Given the description of an element on the screen output the (x, y) to click on. 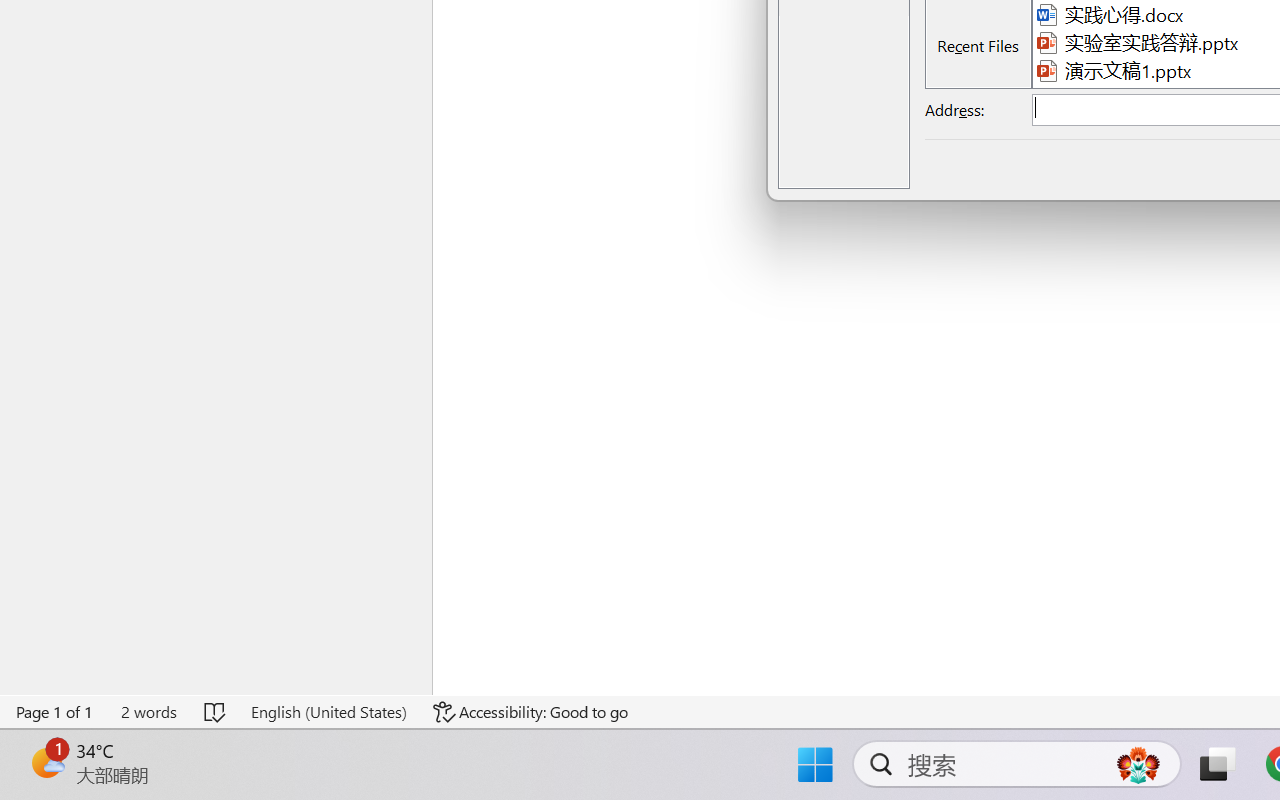
Accessibility Checker Accessibility: Good to go (531, 712)
Page Number Page 1 of 1 (55, 712)
AutomationID: DynamicSearchBoxGleamImage (1138, 764)
Language English (United States) (328, 712)
Recent Files (977, 45)
Spelling and Grammar Check No Errors (216, 712)
AutomationID: BadgeAnchorLargeTicker (46, 762)
